Given the description of an element on the screen output the (x, y) to click on. 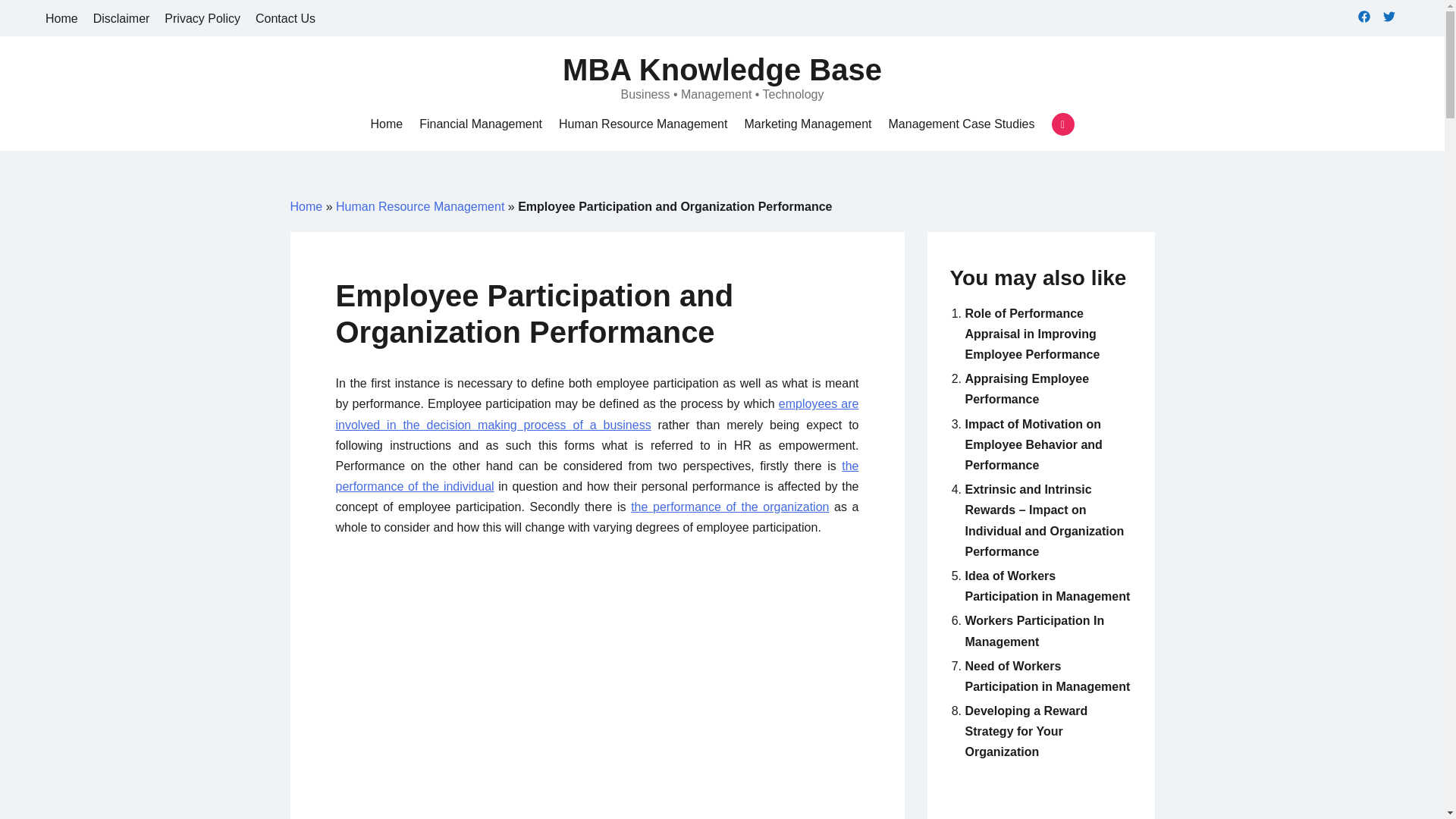
Home (305, 205)
Financial Management (480, 123)
Disclaimer (121, 18)
Home (61, 18)
the performance of the organization (729, 506)
Home (386, 123)
Human Resource Management (642, 123)
the performance of the individual (596, 476)
Marketing Management (807, 123)
Management Case Studies (961, 123)
Search (37, 16)
Privacy Policy (202, 18)
Human Resource Management (419, 205)
Home (386, 123)
